Given the description of an element on the screen output the (x, y) to click on. 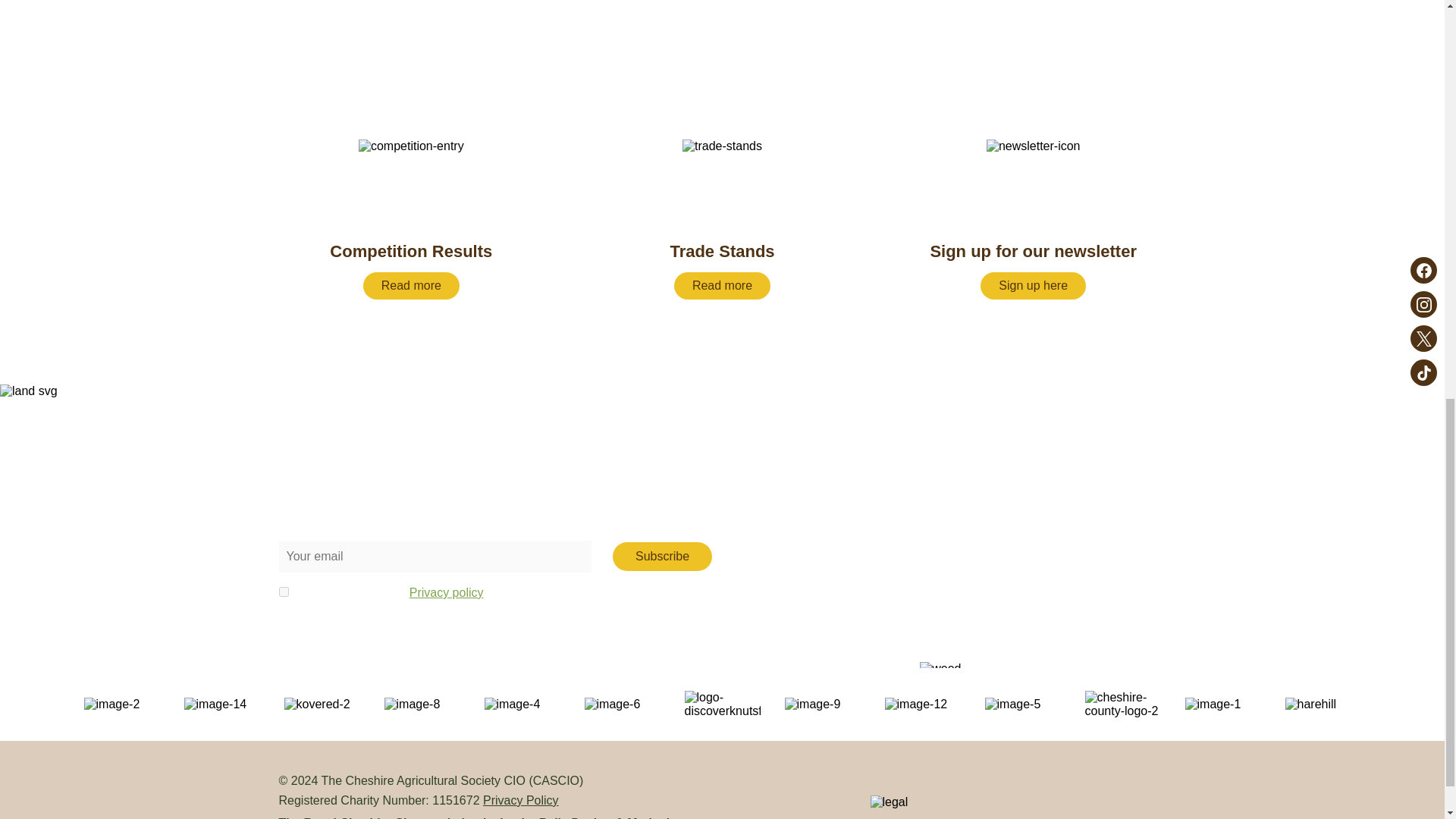
on (283, 592)
Privacy Policy (521, 799)
Subscribe (661, 556)
Privacy policy (446, 592)
